Given the description of an element on the screen output the (x, y) to click on. 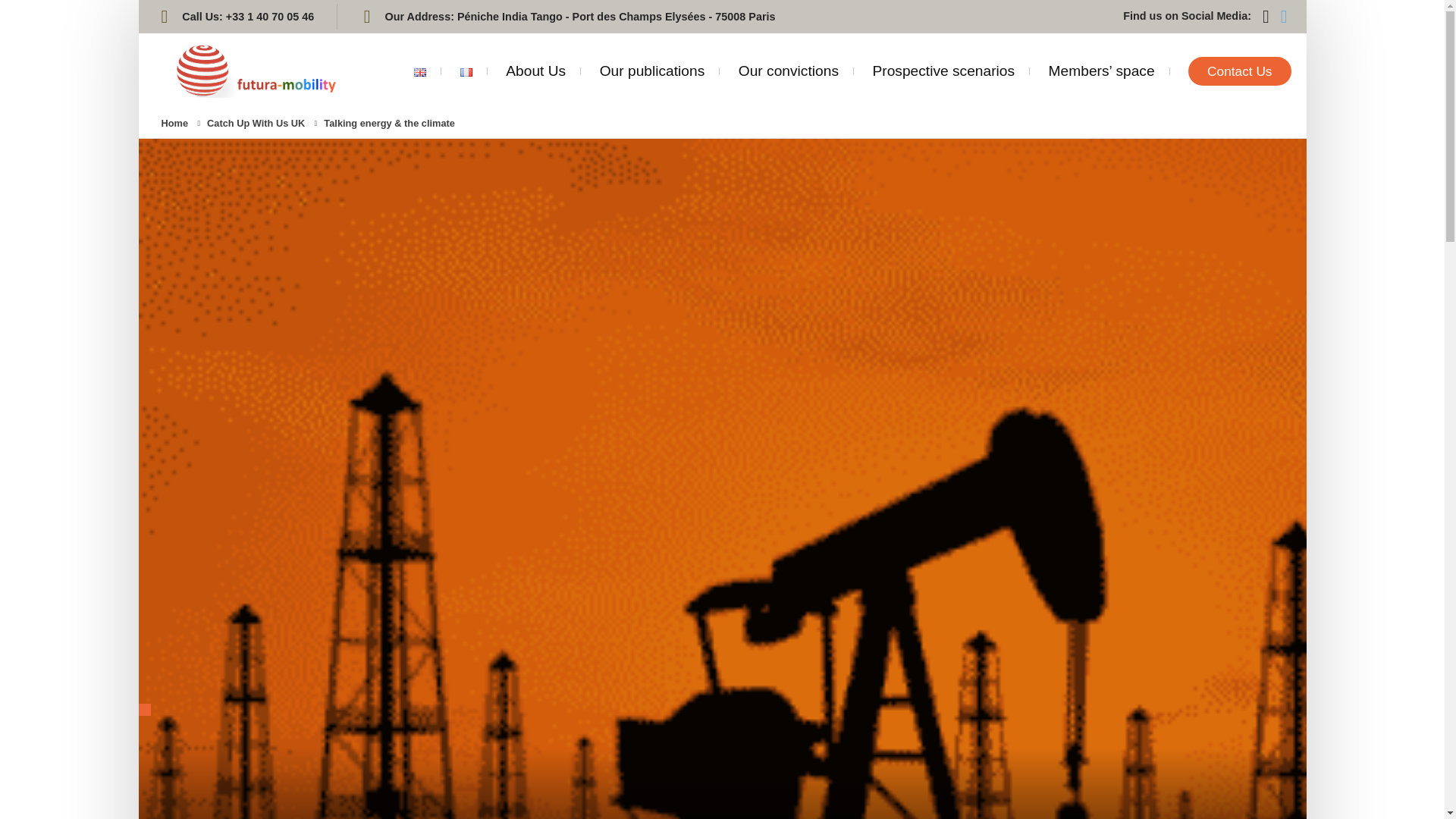
Our publications (651, 59)
Contact Us (1239, 62)
About Us (535, 59)
View all posts in Catch Up With Us UK (255, 123)
Home (173, 123)
Our convictions (788, 59)
Catch Up With Us UK (255, 123)
Prospective scenarios (943, 60)
